Given the description of an element on the screen output the (x, y) to click on. 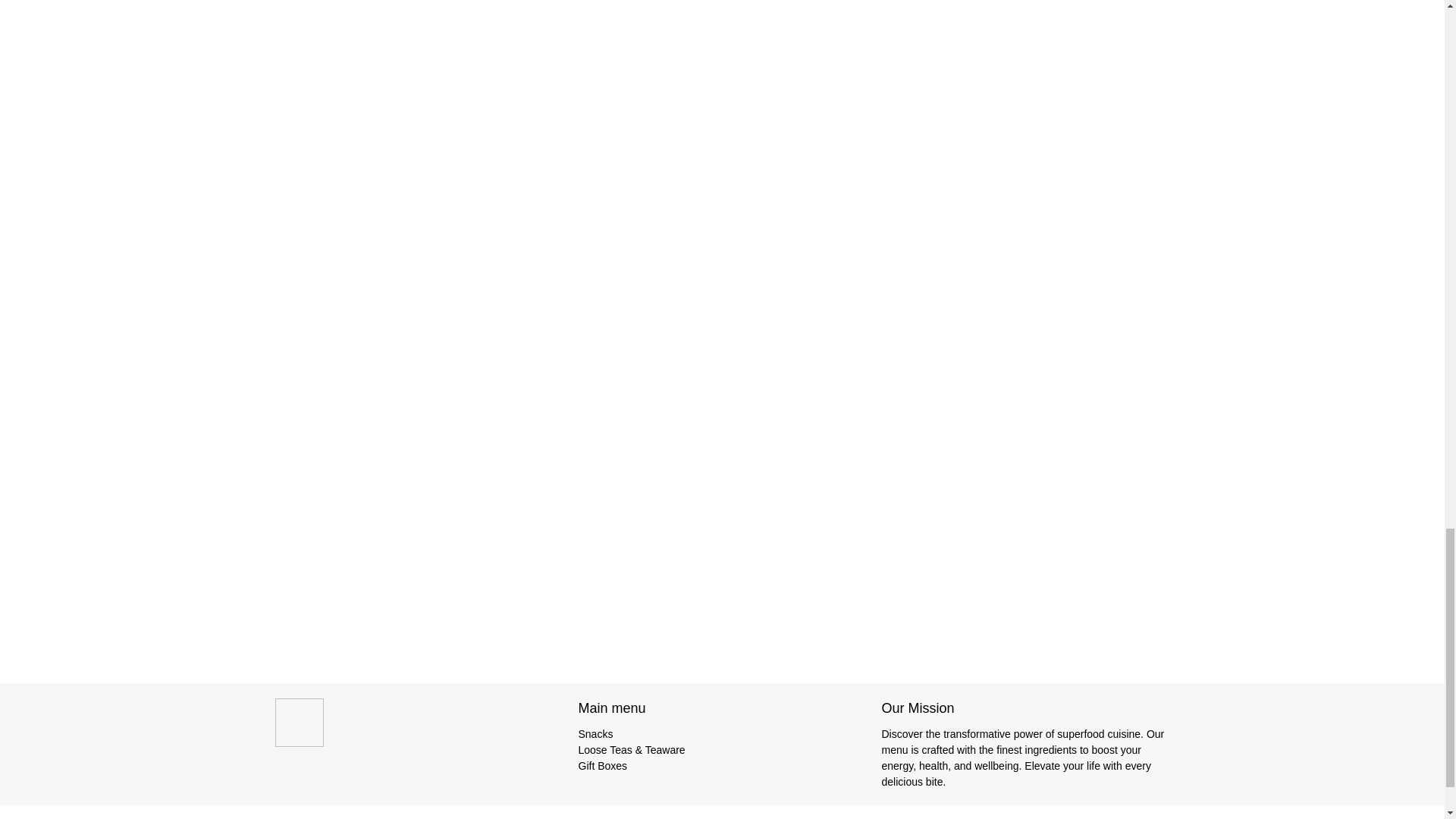
Gift Boxes (602, 766)
Snacks (595, 734)
vitalistfood2 (360, 730)
